Given the description of an element on the screen output the (x, y) to click on. 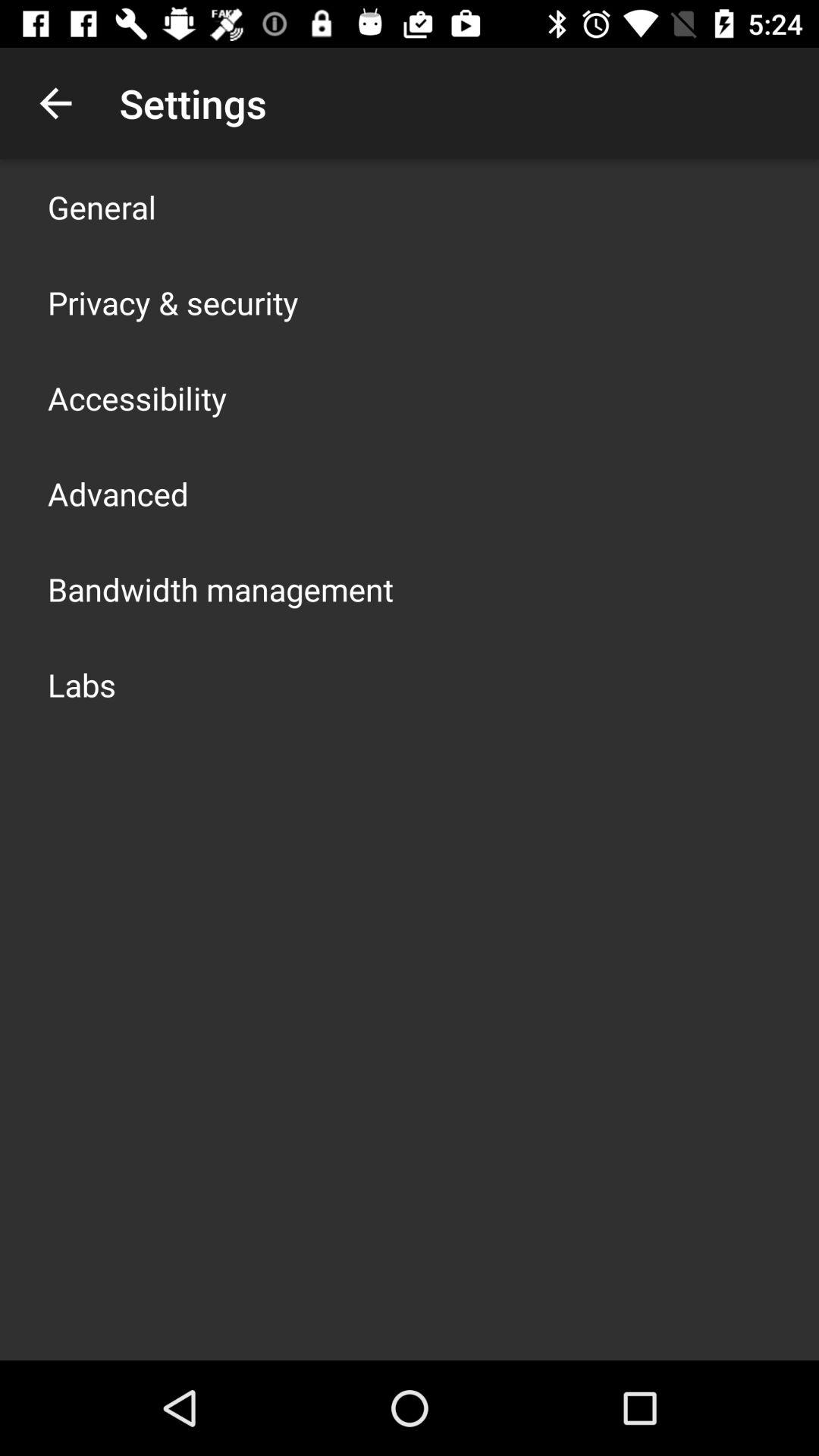
select item below the general icon (172, 302)
